Given the description of an element on the screen output the (x, y) to click on. 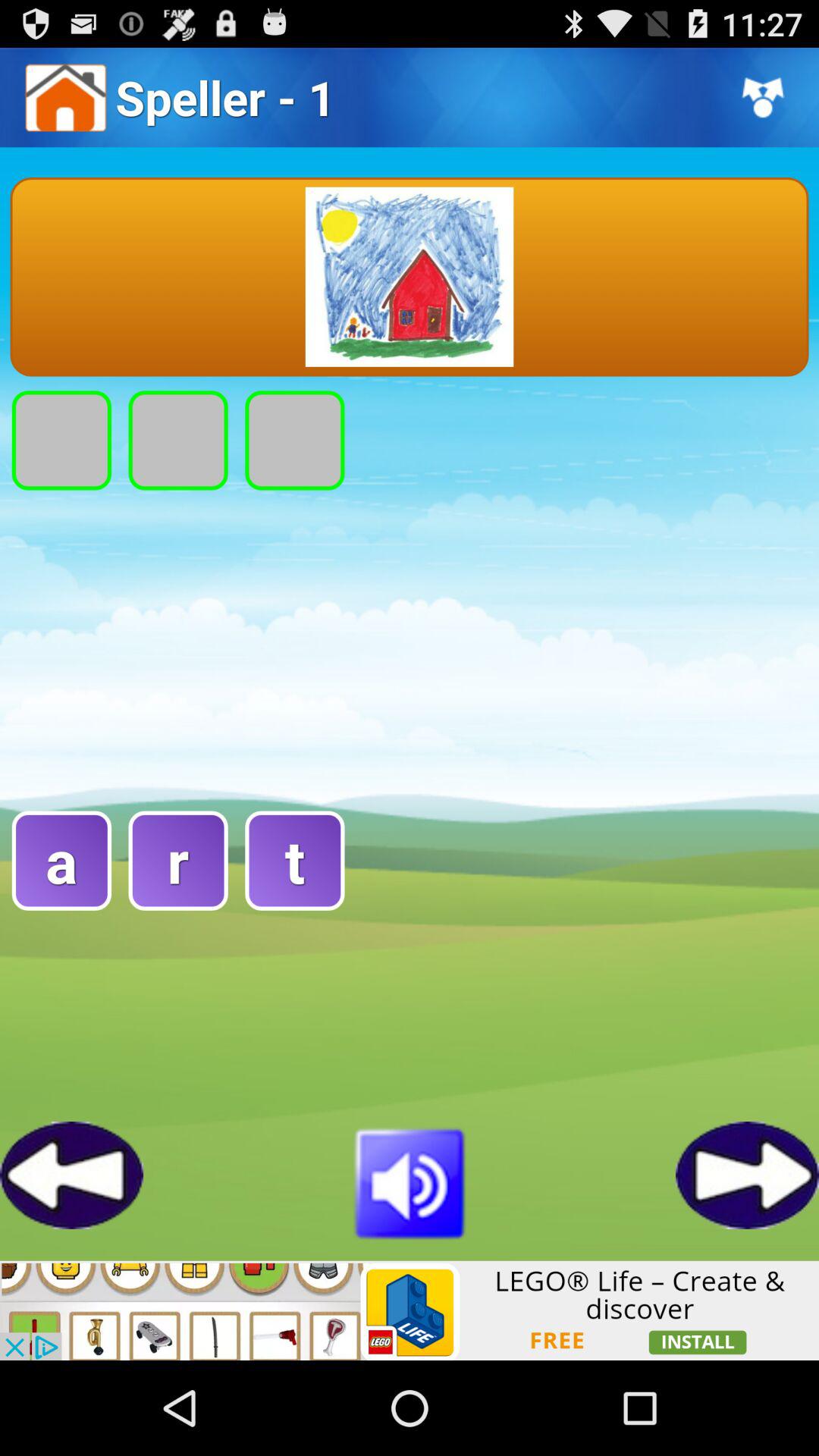
goto back button (71, 1175)
